Given the description of an element on the screen output the (x, y) to click on. 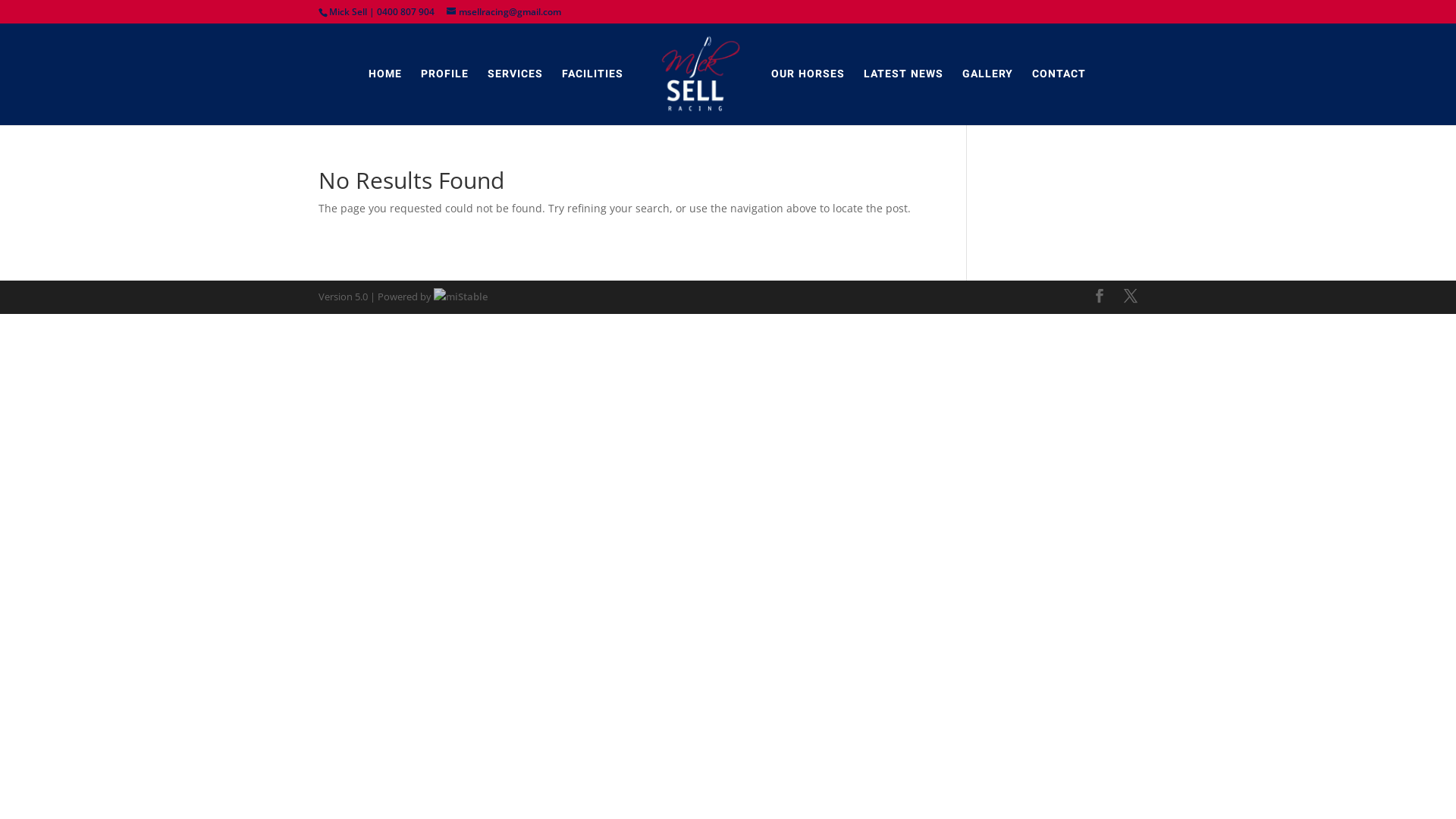
CONTACT Element type: text (1058, 73)
0400 807 904 Element type: text (405, 11)
FACILITIES Element type: text (592, 73)
Horse Management Software Element type: hover (460, 296)
HOME Element type: text (384, 73)
LATEST NEWS Element type: text (903, 73)
msellracing@gmail.com Element type: text (503, 11)
SERVICES Element type: text (514, 73)
PROFILE Element type: text (444, 73)
OUR HORSES Element type: text (807, 73)
GALLERY Element type: text (987, 73)
